Given the description of an element on the screen output the (x, y) to click on. 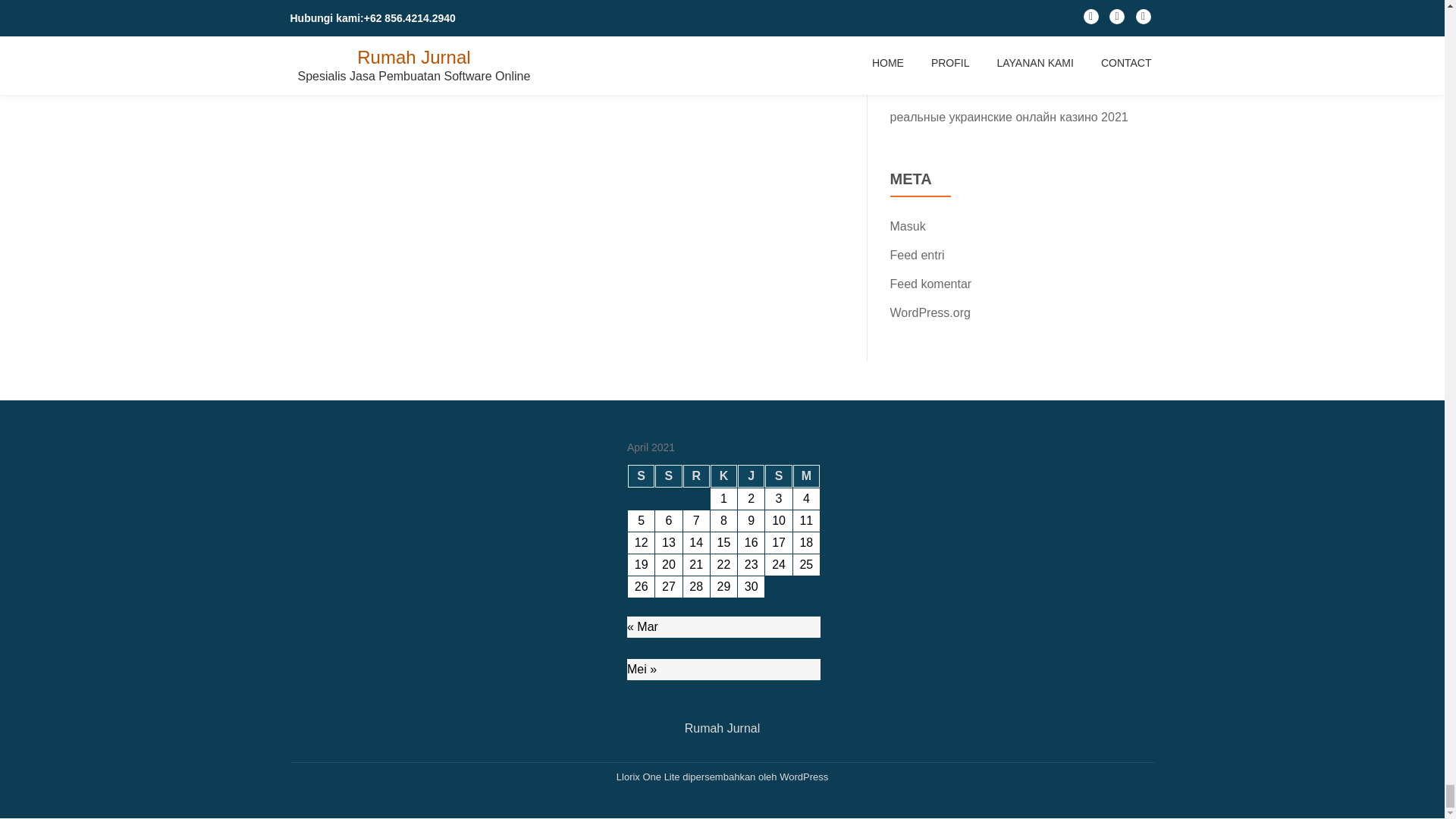
Senin (640, 476)
Selasa (668, 476)
Sabtu (778, 476)
Rabu (696, 476)
Jumat (751, 476)
Kamis (723, 476)
Minggu (806, 476)
